Given the description of an element on the screen output the (x, y) to click on. 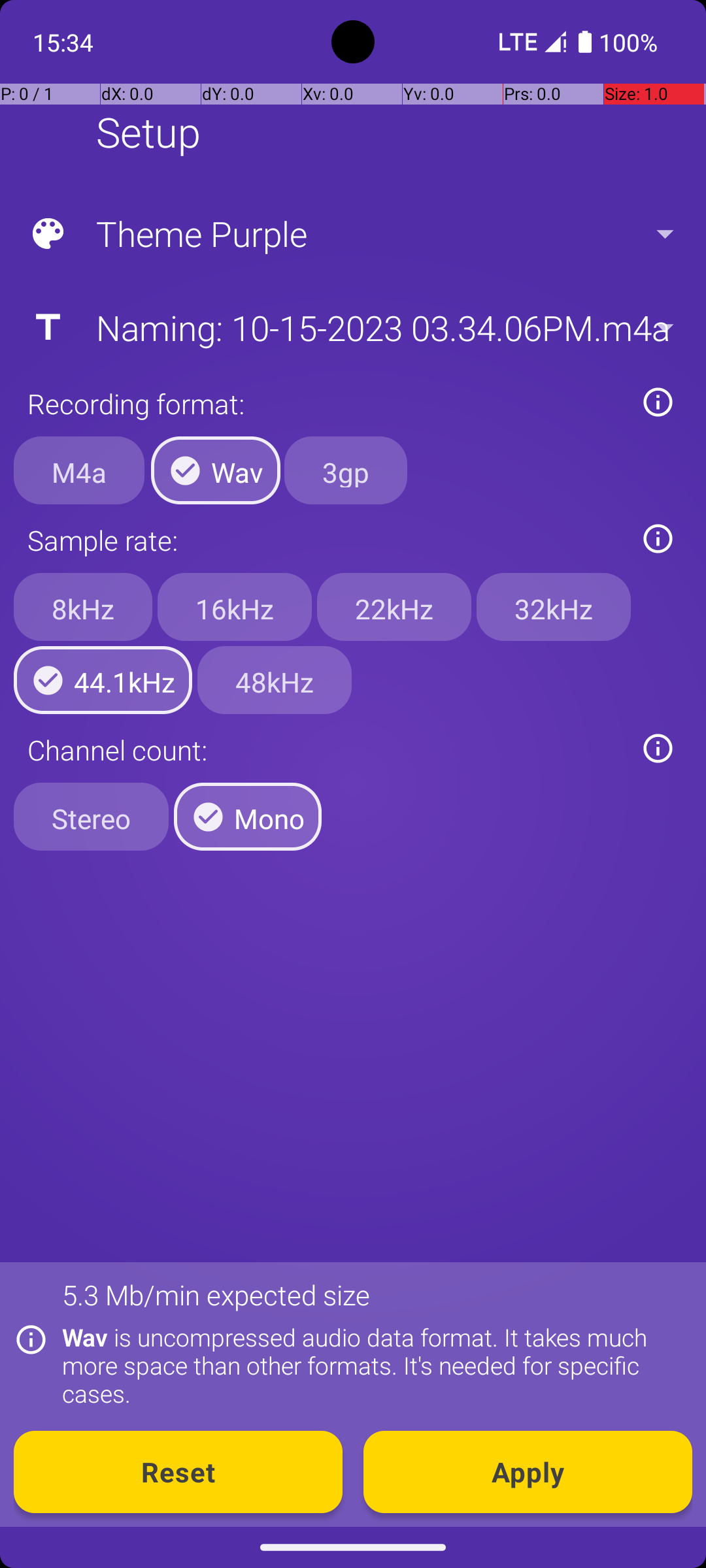
5.3 Mb/min expected size Element type: android.widget.TextView (215, 1294)
Wav is uncompressed audio data format. It takes much more space than other formats. It's needed for specific cases. Element type: android.widget.TextView (370, 1364)
Naming: 10-15-2023 03.34.06PM.m4a Element type: android.widget.TextView (352, 327)
